Given the description of an element on the screen output the (x, y) to click on. 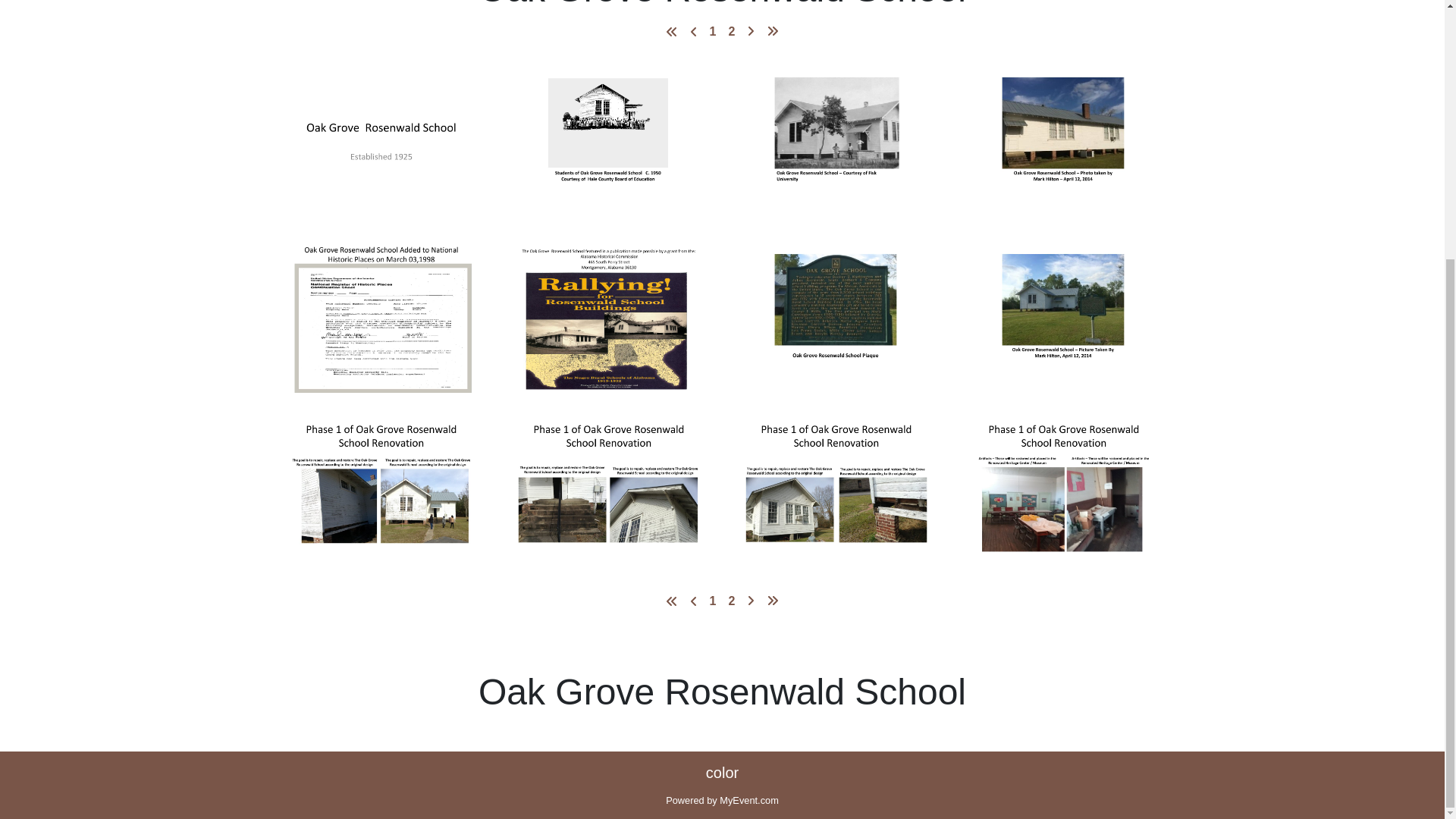
MyEvent.com (748, 799)
color (722, 772)
color (722, 772)
MyEvent.com (748, 799)
